Given the description of an element on the screen output the (x, y) to click on. 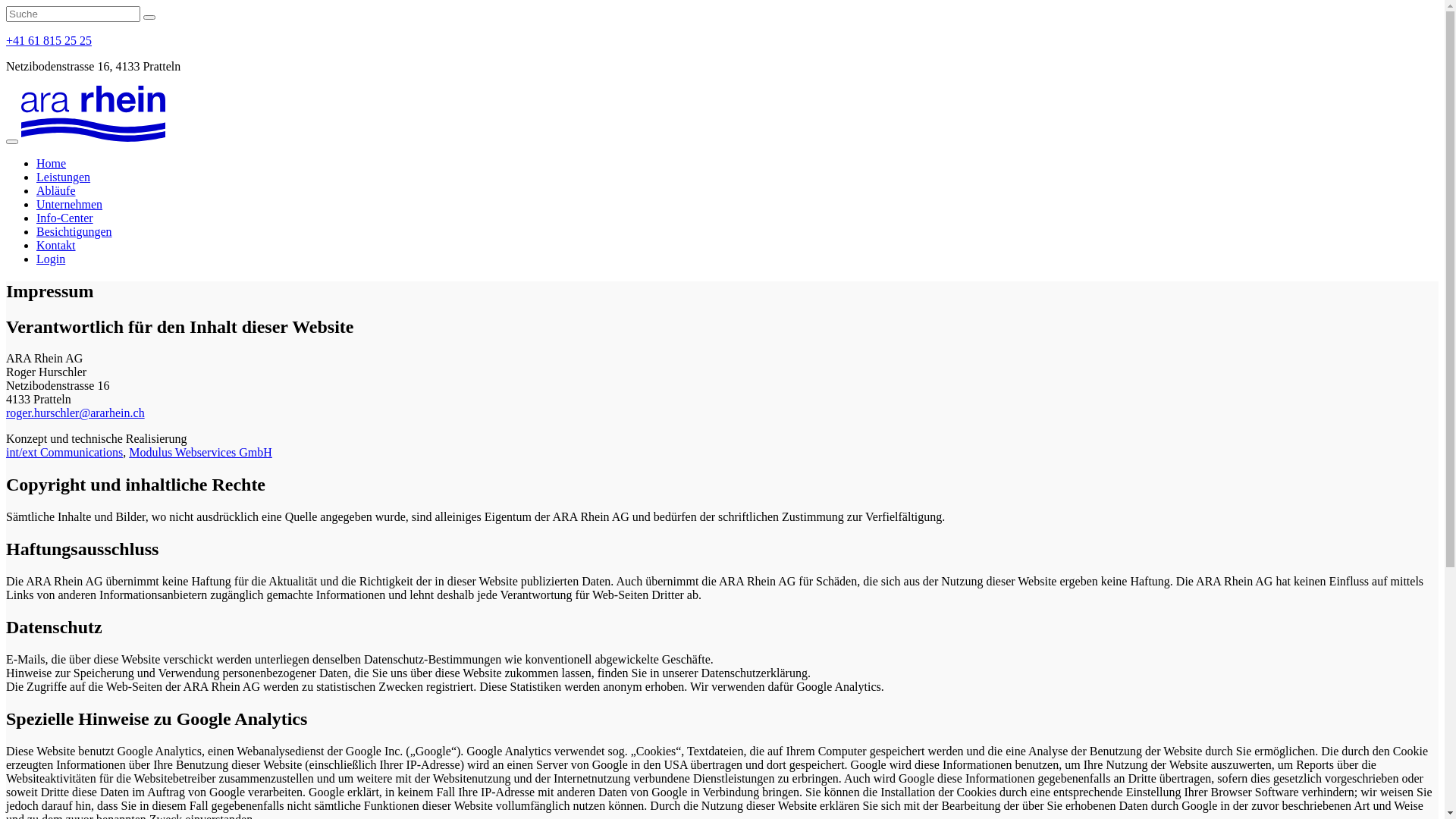
roger.hurschler@ararhein.ch Element type: text (75, 412)
int/ext Communications Element type: text (64, 451)
Info-Center Element type: text (64, 217)
Leistungen Element type: text (63, 176)
Unternehmen Element type: text (69, 203)
Ara Rhein Element type: hover (93, 113)
Login Element type: text (50, 258)
Modulus Webservices GmbH Element type: text (200, 451)
+41 61 815 25 25 Element type: text (48, 40)
Home Element type: text (50, 162)
Besichtigungen Element type: text (74, 231)
Kontakt Element type: text (55, 244)
